Given the description of an element on the screen output the (x, y) to click on. 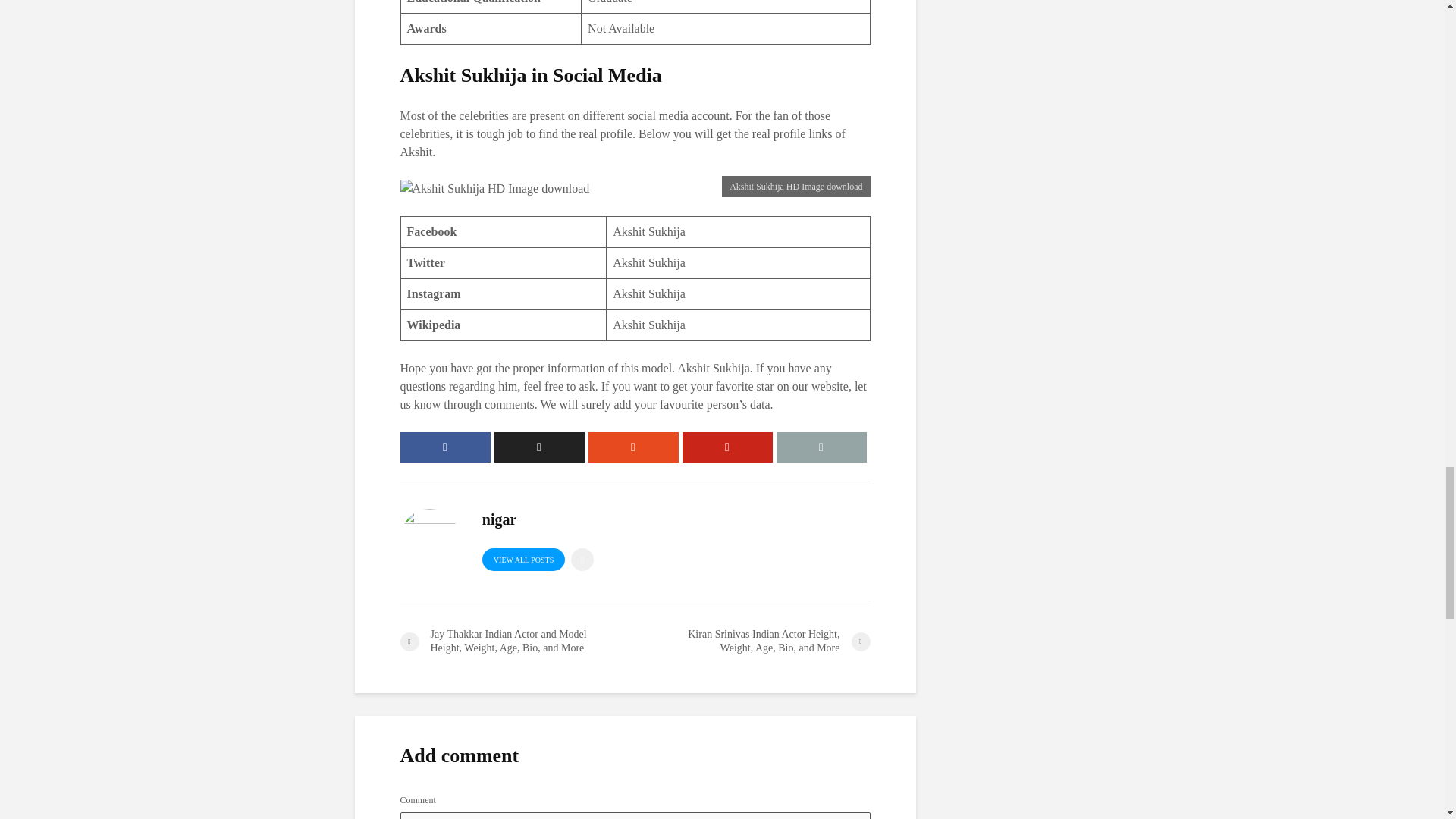
Akshit Sukhija (648, 324)
Akshit Sukhija (648, 262)
VIEW ALL POSTS (522, 558)
Akshit Sukhija (648, 231)
Akshit Sukhija (648, 293)
